Given the description of an element on the screen output the (x, y) to click on. 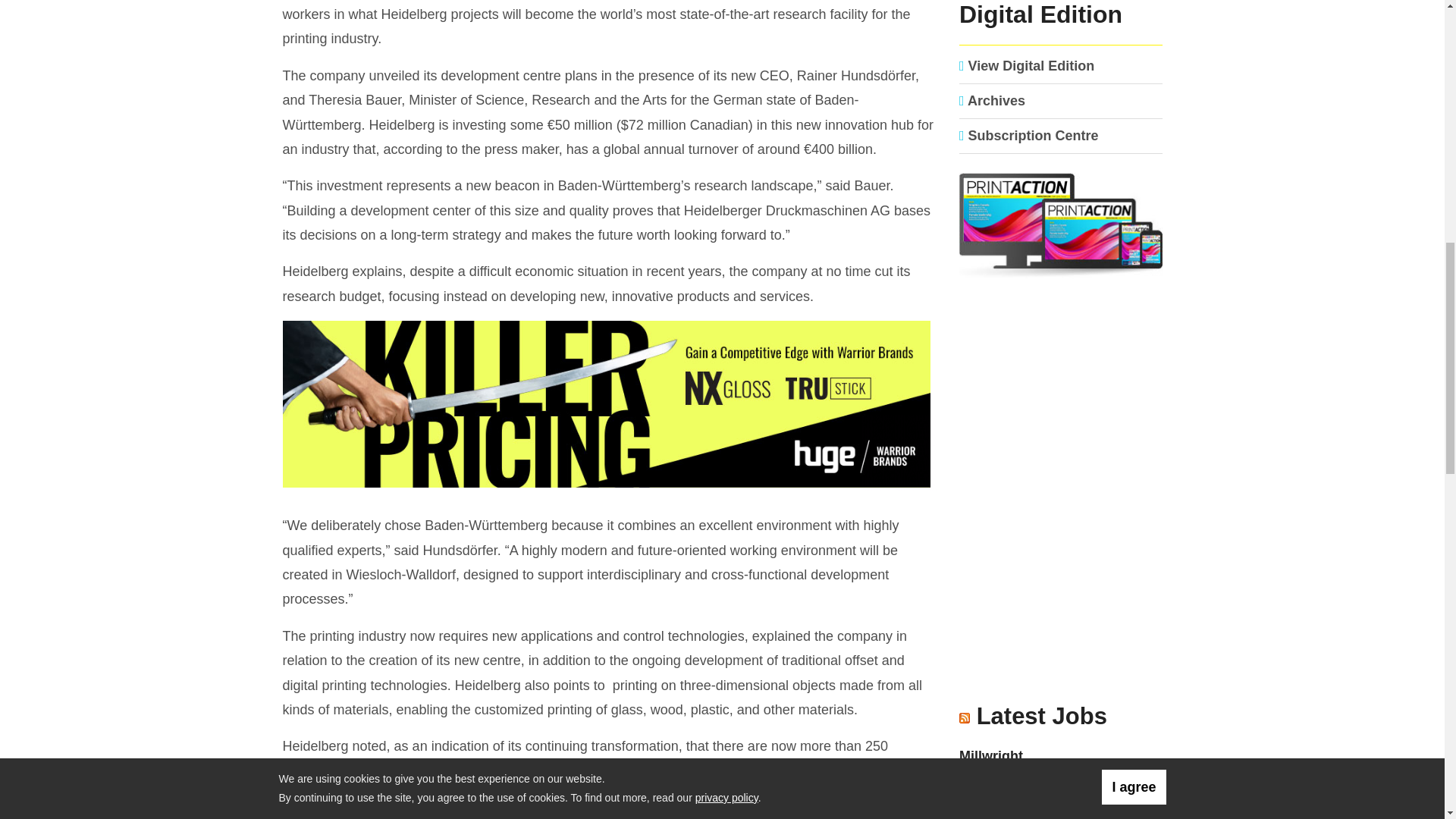
3rd party ad content (1060, 597)
3rd party ad content (609, 405)
3rd party ad content (1060, 400)
